Given the description of an element on the screen output the (x, y) to click on. 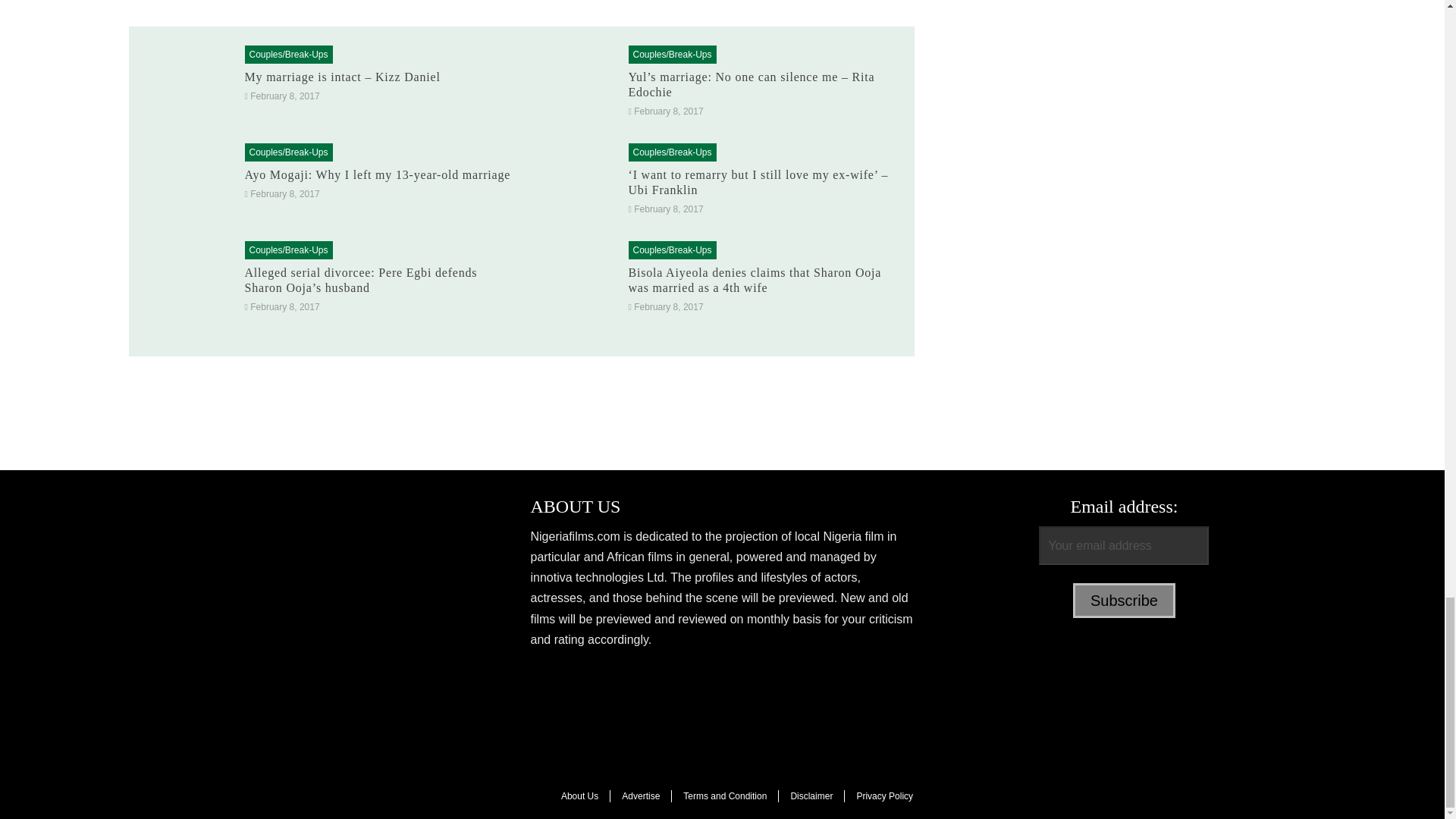
Subscribe (1123, 600)
